Given the description of an element on the screen output the (x, y) to click on. 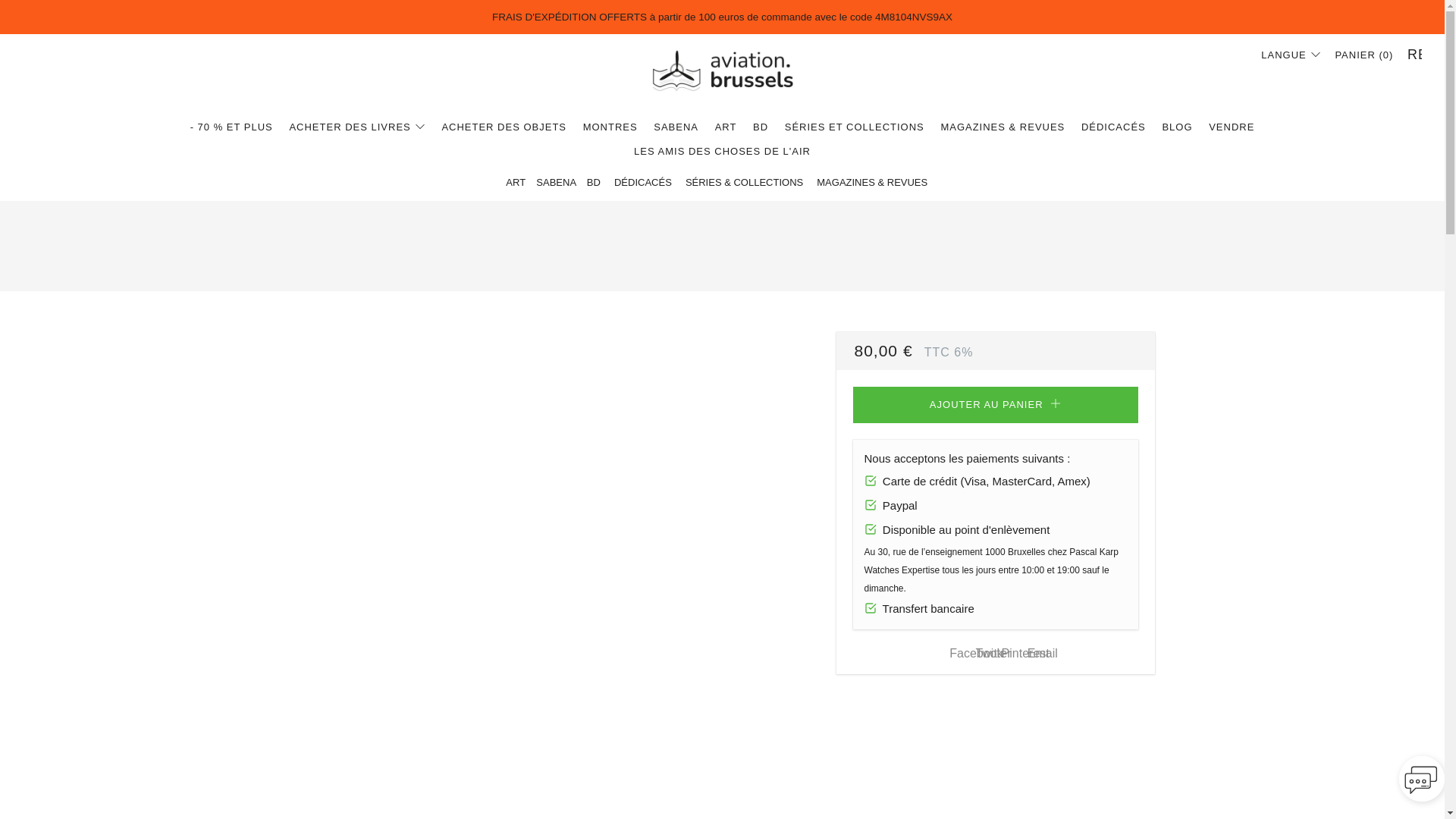
ACHETER DES OBJETS (503, 127)
ACHETER DES LIVRES (356, 127)
